Given the description of an element on the screen output the (x, y) to click on. 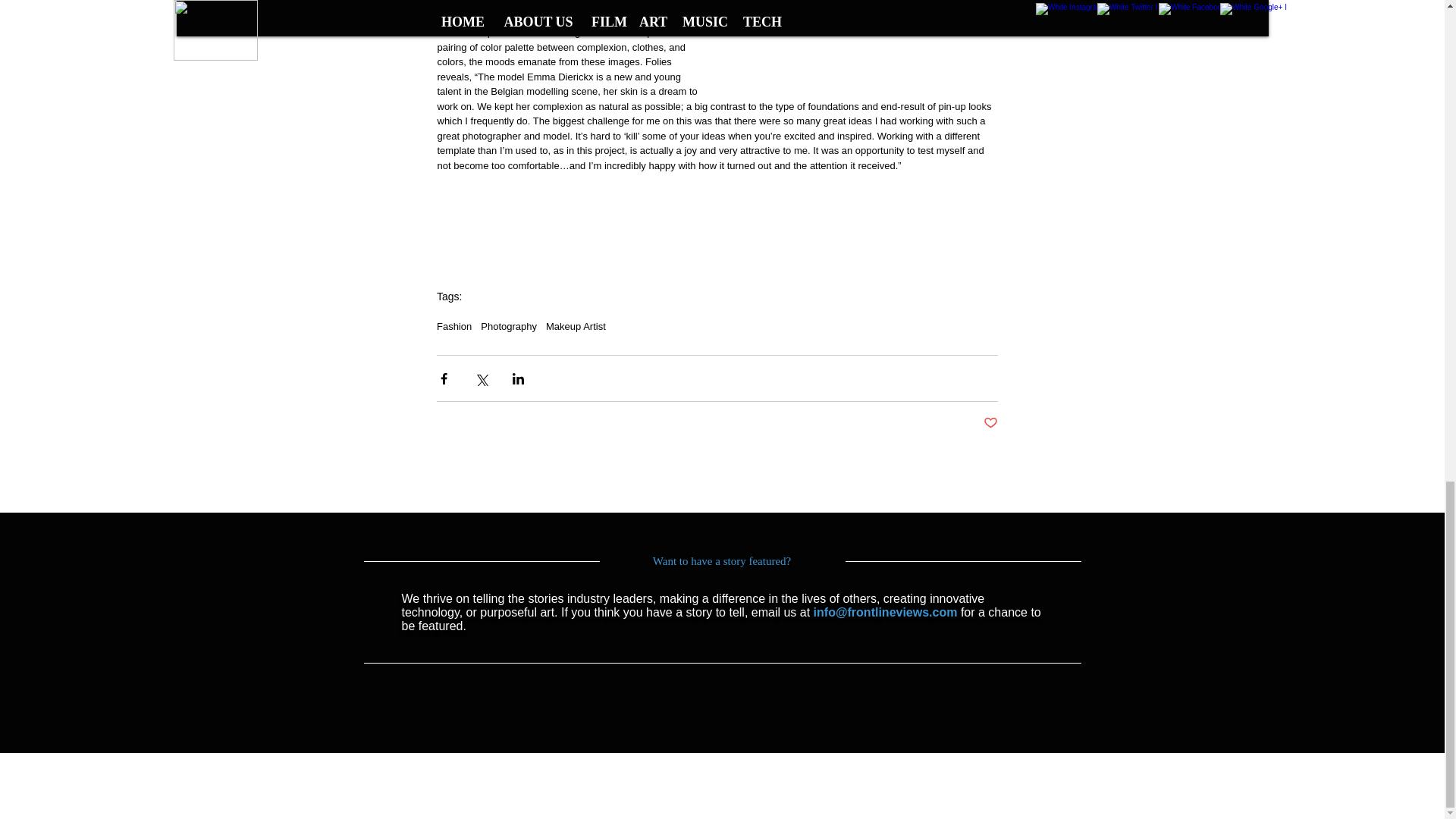
Fashion (453, 326)
Post not marked as liked (990, 423)
Photography (508, 326)
Makeup Artist (575, 326)
